Given the description of an element on the screen output the (x, y) to click on. 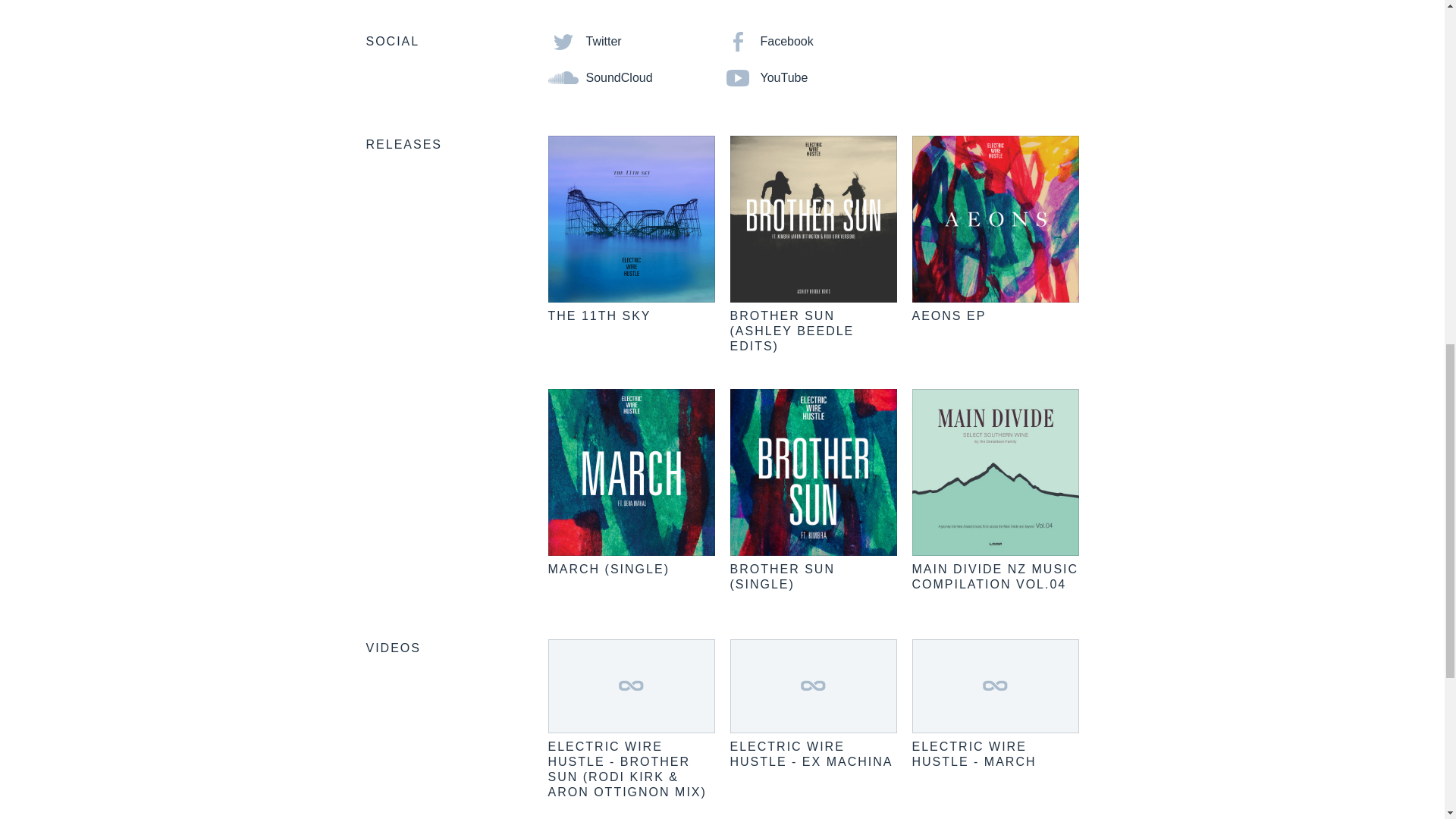
Twitter (584, 41)
THE 11TH SKY (598, 315)
YouTube (765, 77)
View original (973, 754)
View original (630, 686)
SoundCloud (599, 77)
AEONS EP (948, 315)
View original (626, 769)
View original (810, 754)
View original (994, 686)
View original (812, 686)
Facebook (767, 41)
MAIN DIVIDE NZ MUSIC COMPILATION VOL.04 (994, 576)
